Given the description of an element on the screen output the (x, y) to click on. 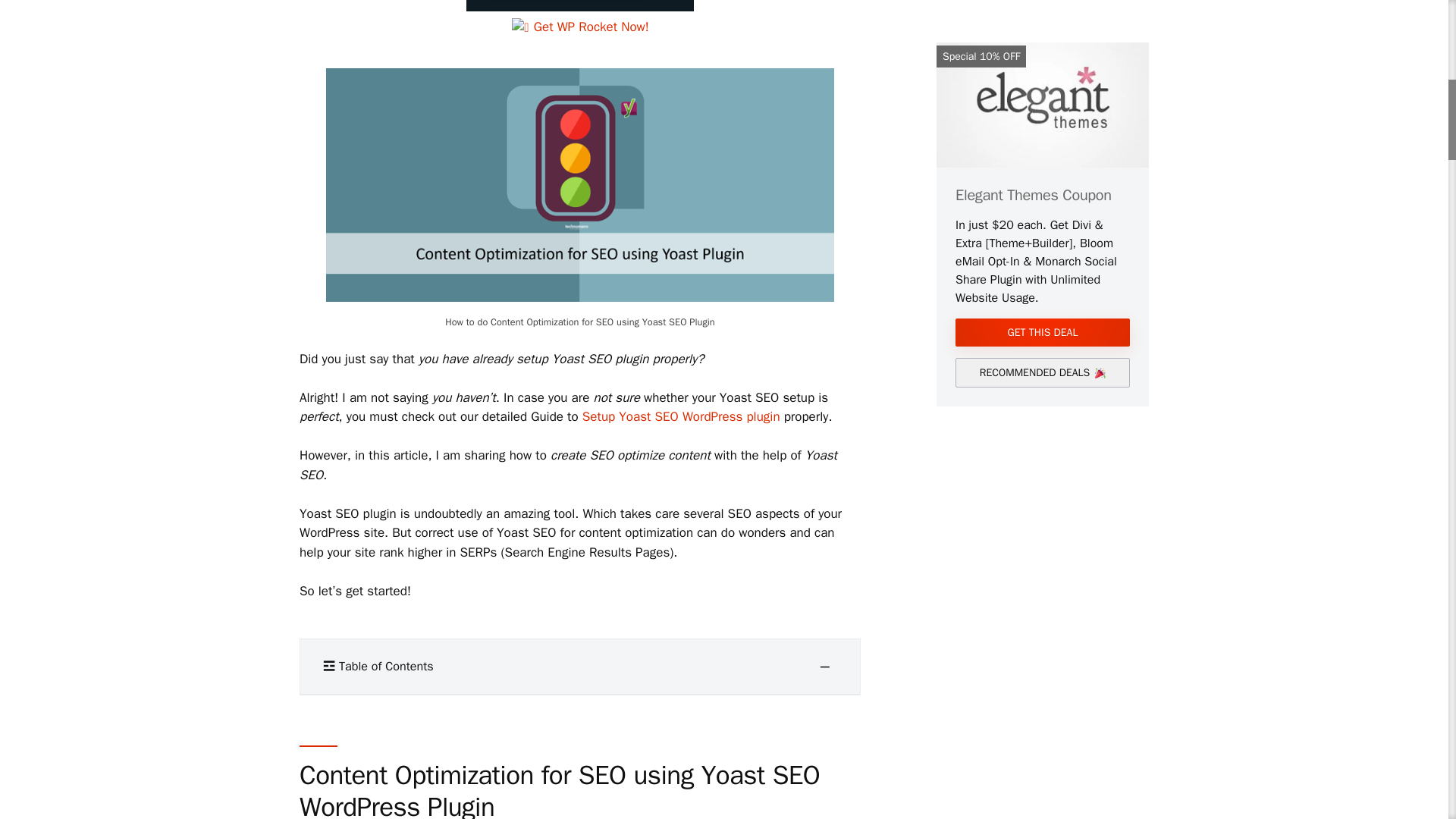
Make WordPress Blazing FAST! Get WP Rocket! (579, 5)
Get WP Rocket Now! (579, 18)
Scroll back to top (1409, 720)
Make WordPress Blazing FAST! Get WP Rocket! (579, 18)
Setup Yoast SEO WordPress plugin (681, 416)
content optimization for seo using yoast plugin (580, 184)
